Given the description of an element on the screen output the (x, y) to click on. 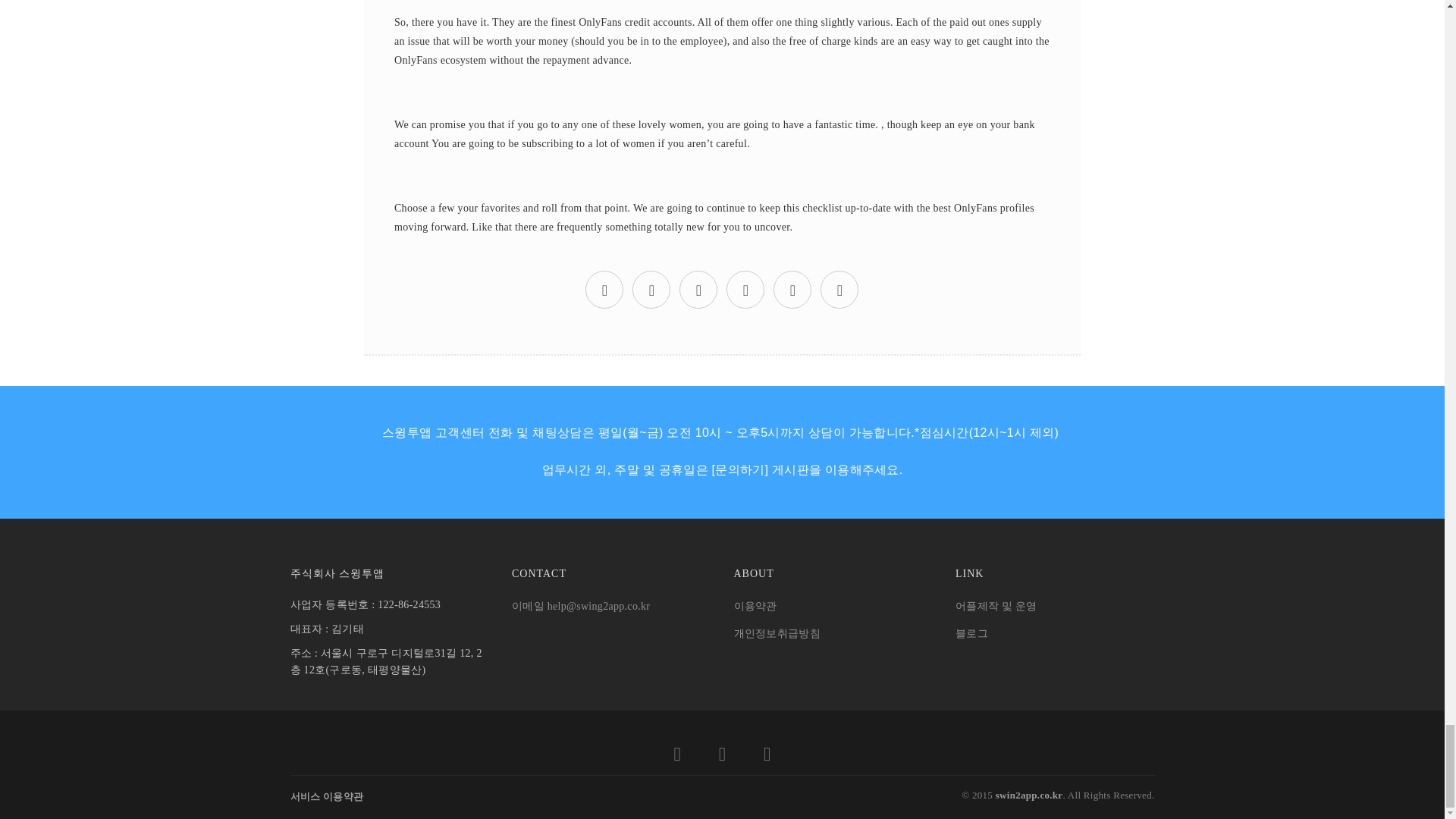
Instagram (766, 756)
facebook (651, 292)
Facebook (677, 756)
YouTube (721, 756)
